Given the description of an element on the screen output the (x, y) to click on. 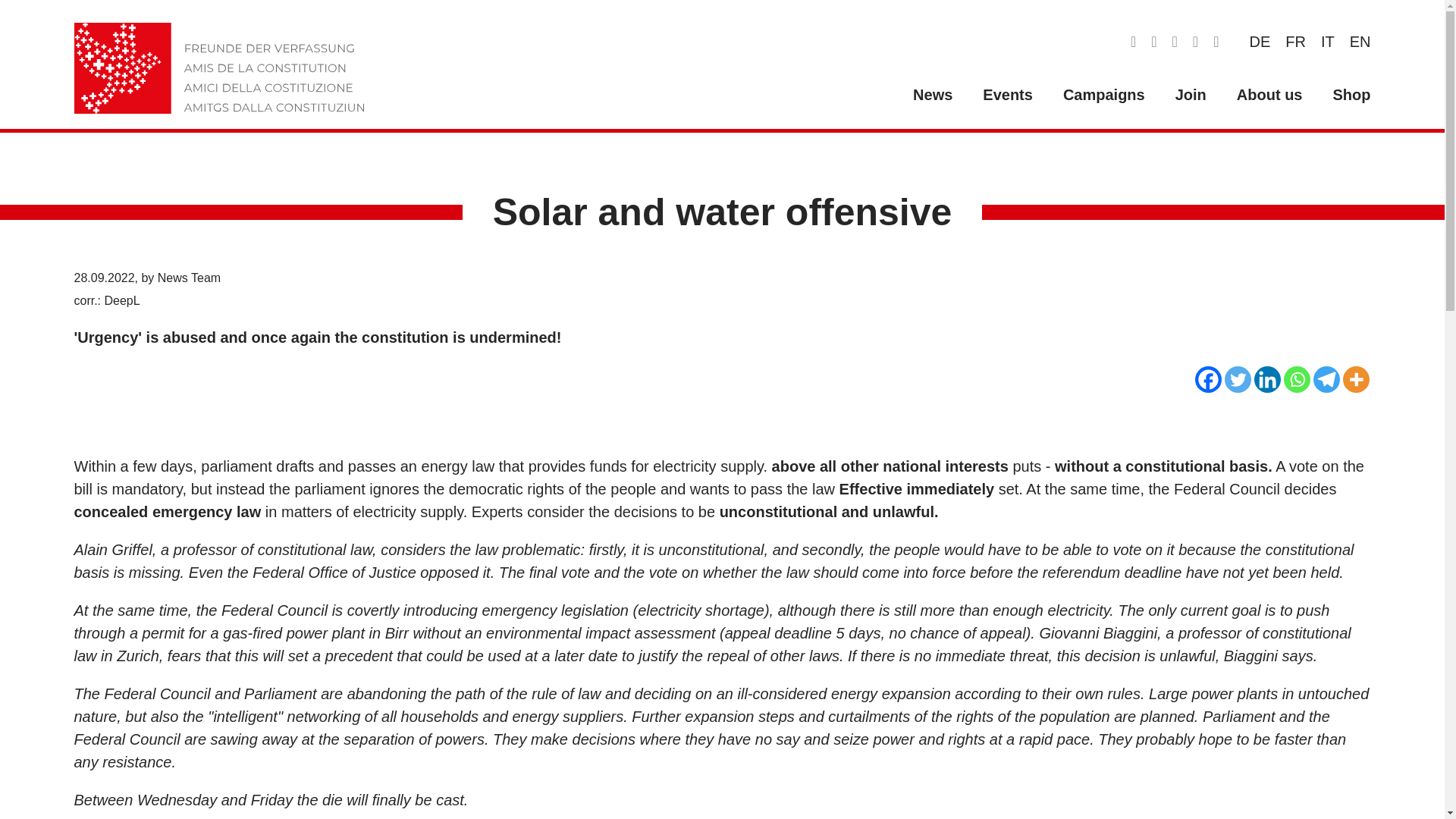
EN (1360, 41)
Facebook (1208, 379)
Whatsapp (1295, 379)
Twitter (1237, 379)
DE (1259, 41)
Shop (1351, 94)
Linkedin (1267, 379)
FR (1295, 41)
Campaigns (1104, 94)
Telegram (1326, 379)
Events (1008, 94)
News (933, 94)
More (1355, 379)
Join (1190, 94)
About us (1269, 94)
